Given the description of an element on the screen output the (x, y) to click on. 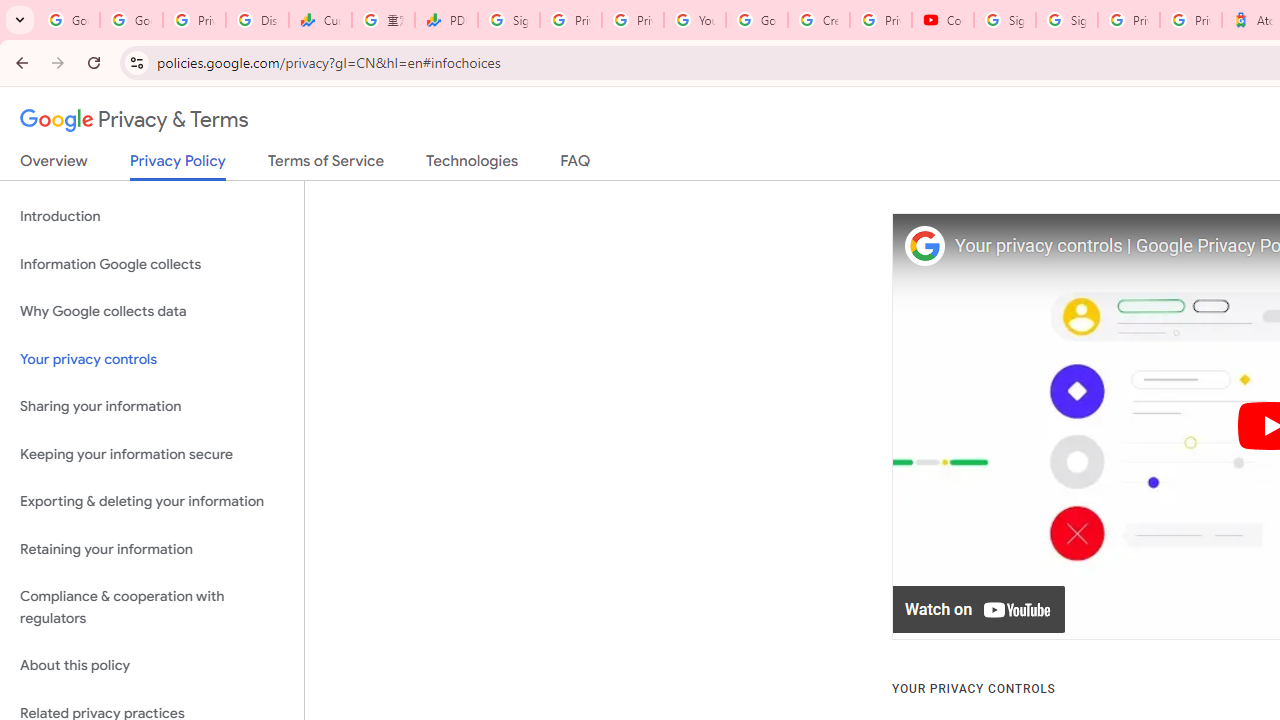
About this policy (152, 666)
Privacy Checkup (632, 20)
Retaining your information (152, 548)
PDD Holdings Inc - ADR (PDD) Price & News - Google Finance (445, 20)
YouTube (694, 20)
Why Google collects data (152, 312)
Google Account Help (756, 20)
